Given the description of an element on the screen output the (x, y) to click on. 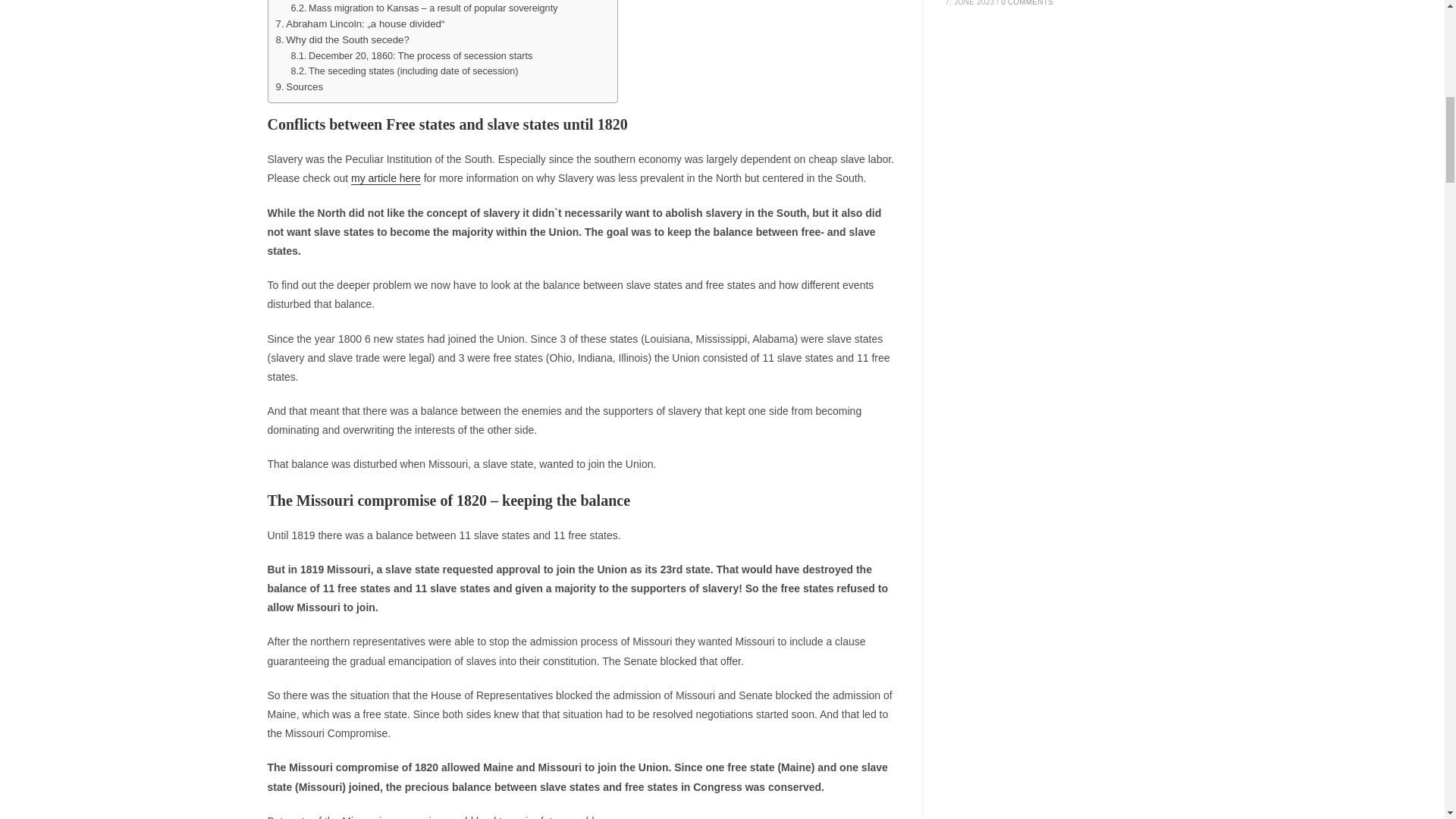
Why did the South secede? (342, 39)
Why did the South secede? (342, 39)
December 20, 1860: The process of secession starts (410, 55)
